Given the description of an element on the screen output the (x, y) to click on. 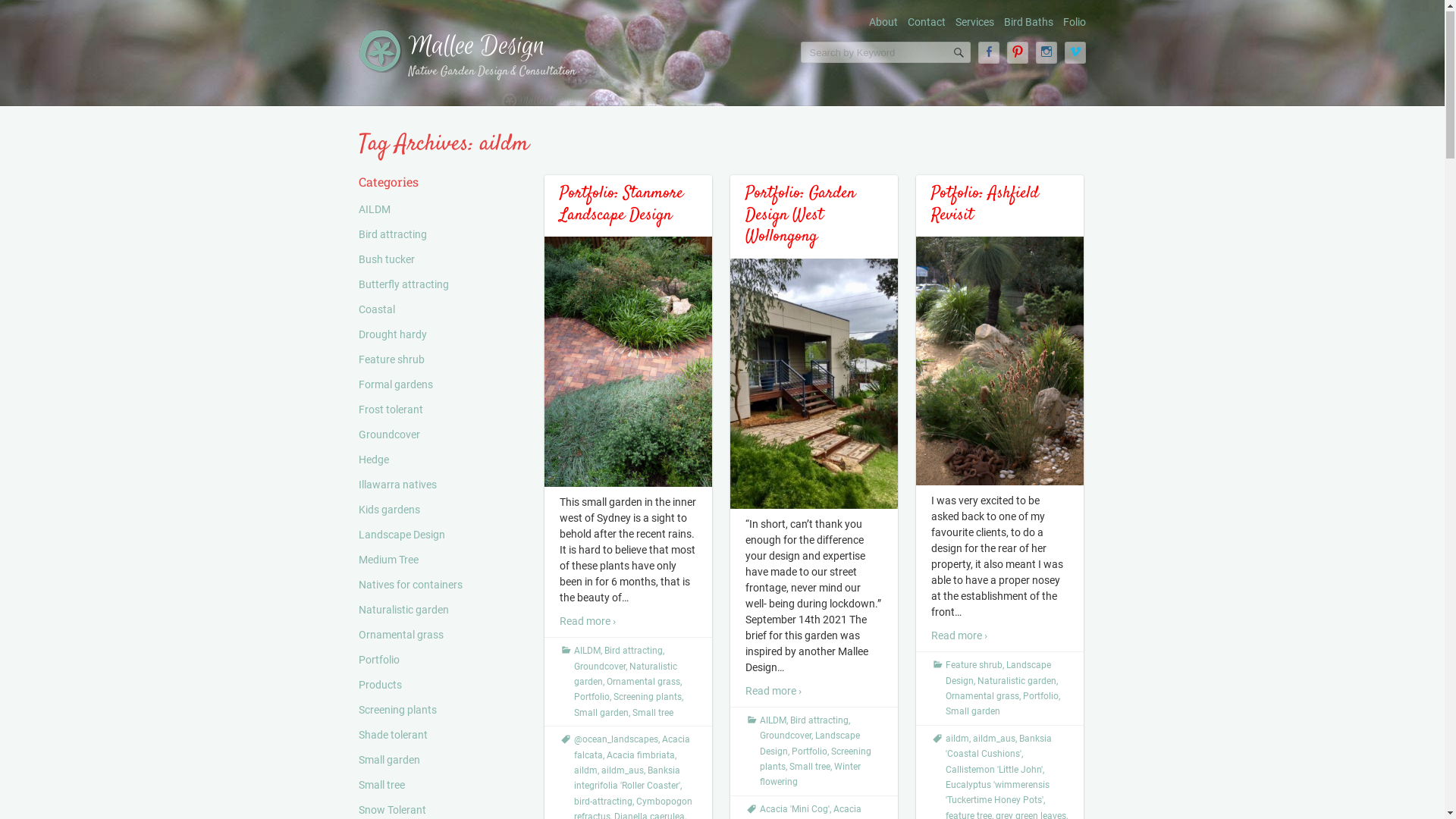
Portfolio: Stanmore Landscape Design Element type: text (621, 205)
@ocean_landscapes Element type: text (615, 739)
Small tree Element type: text (652, 713)
Portfolio Element type: text (590, 697)
Portfolio Element type: text (1039, 696)
Folio Element type: text (1074, 22)
aildm Element type: text (584, 770)
Eucalyptus 'wimmerensis 'Tuckertime Honey Pots' Element type: text (996, 793)
Hedge Element type: text (372, 460)
aildm Element type: text (956, 739)
Landscape Design Element type: text (400, 535)
Small garden Element type: text (971, 711)
Landscape Design Element type: text (809, 743)
bird-attracting Element type: text (602, 802)
Drought hardy Element type: text (391, 335)
aildm_aus Element type: text (993, 739)
Small tree Element type: text (380, 785)
Products Element type: text (379, 685)
Feature shrub Element type: text (972, 665)
Illawarra natives Element type: text (396, 485)
Frost tolerant Element type: text (389, 410)
Small garden Element type: text (388, 760)
Groundcover Element type: text (388, 435)
Potfolio: Ashfield Revisit Element type: hover (999, 362)
Groundcover Element type: text (598, 667)
AILDM Element type: text (373, 209)
Banksia integrifolia 'Roller Coaster' Element type: text (626, 778)
Snow Tolerant Element type: text (391, 810)
Acacia falcata Element type: text (631, 747)
Ornamental grass Element type: text (643, 682)
Screening plants Element type: text (646, 697)
Groundcover Element type: text (785, 736)
Portfolio: Garden Design West Wollongong Element type: hover (813, 384)
Services Element type: text (974, 22)
AILDM Element type: text (586, 651)
Portfolio: Stanmore Landscape Design Element type: hover (628, 362)
Kids gardens Element type: text (388, 510)
Bush tucker Element type: text (385, 260)
Landscape Design Element type: text (997, 673)
Butterfly attracting Element type: text (402, 285)
Bird attracting Element type: text (391, 235)
Naturalistic garden Element type: text (624, 674)
Screening plants Element type: text (396, 710)
Ornamental grass Element type: text (981, 696)
Medium Tree Element type: text (387, 560)
Acacia 'Mini Cog' Element type: text (794, 809)
Acacia fimbriata Element type: text (640, 755)
Coastal Element type: text (375, 310)
Small garden Element type: text (600, 713)
Formal gardens Element type: text (394, 385)
Natives for containers Element type: text (409, 585)
Naturalistic garden Element type: text (1015, 681)
Portfolio Element type: text (377, 660)
Bird Baths Element type: text (1028, 22)
About Element type: text (883, 22)
Portfolio Element type: text (809, 751)
Screening plants Element type: text (815, 759)
Shade tolerant Element type: text (391, 735)
Portfolio: Garden Design West Wollongong Element type: text (799, 215)
Potfolio: Ashfield Revisit Element type: text (984, 205)
Bird attracting Element type: text (632, 651)
Naturalistic garden Element type: text (402, 610)
Callistemon 'Little John' Element type: text (992, 770)
AILDM Element type: text (772, 720)
Winter flowering Element type: text (809, 774)
Banksia 'Coastal Cushions' Element type: text (997, 746)
Ornamental grass Element type: text (399, 635)
Contact Element type: text (926, 22)
aildm_aus Element type: text (621, 770)
Small tree Element type: text (808, 767)
Bird attracting Element type: text (819, 720)
Mallee Design Element type: text (475, 46)
Feature shrub Element type: text (390, 360)
